Given the description of an element on the screen output the (x, y) to click on. 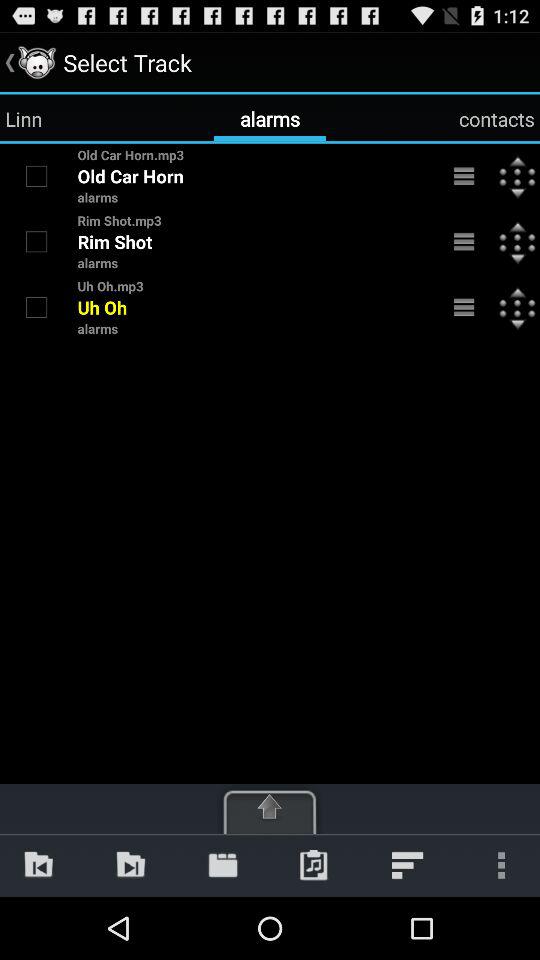
open menu for old car horn (463, 175)
